Given the description of an element on the screen output the (x, y) to click on. 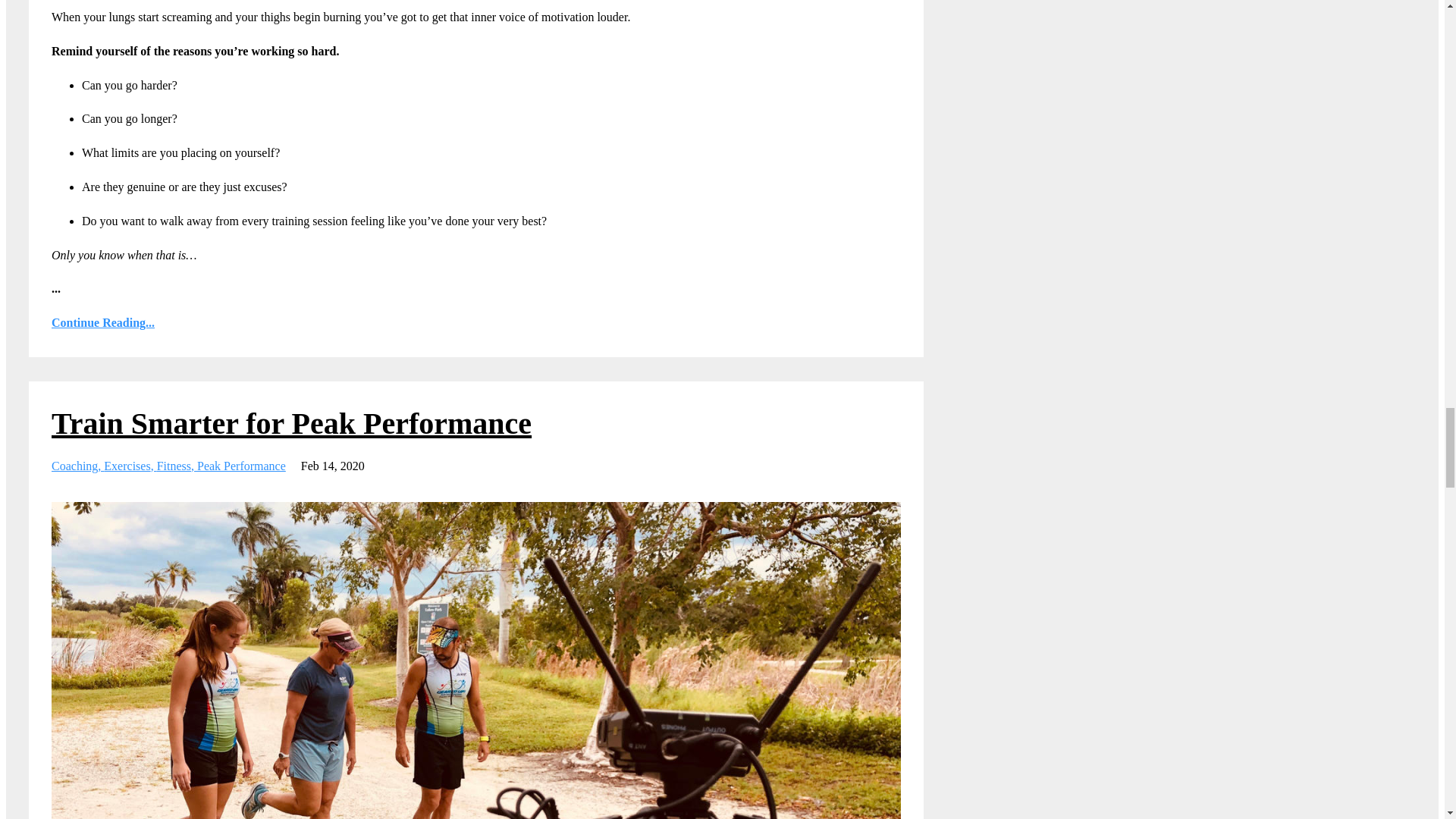
Exercises (129, 465)
Train Smarter for Peak Performance (290, 423)
Coaching (76, 465)
Continue Reading... (475, 323)
